Given the description of an element on the screen output the (x, y) to click on. 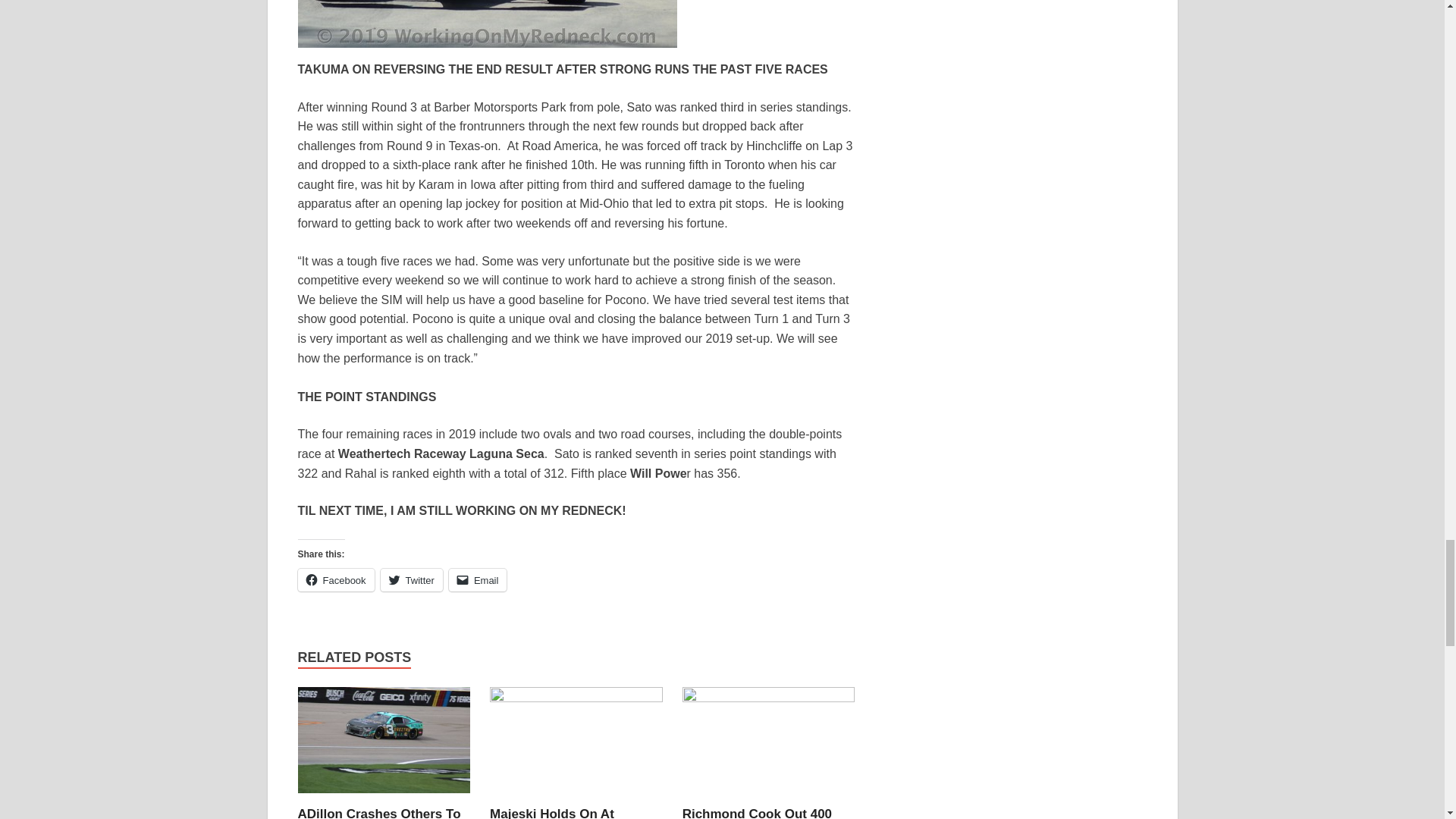
ADillon Crashes Others To Get Richmond Victory (378, 812)
Email (477, 579)
Click to share on Facebook (335, 579)
Majeski Holds On At Richmond (575, 745)
Richmond Cook Out 400 Notes (756, 812)
Richmond Cook Out 400 Notes (756, 812)
Facebook (335, 579)
Majeski Holds On At Richmond (551, 812)
Richmond Cook Out 400 Notes (769, 745)
ADillon Crashes Others To Get Richmond Victory (378, 812)
